Given the description of an element on the screen output the (x, y) to click on. 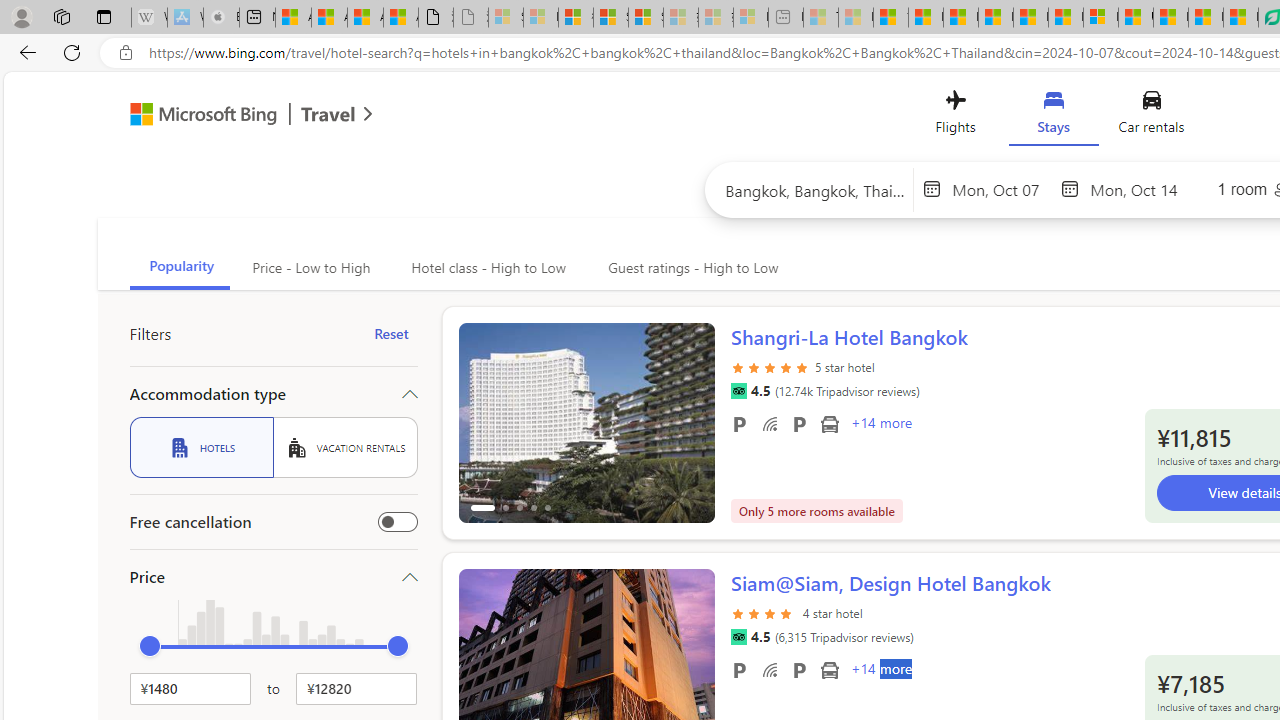
Stays (1053, 116)
Microsoft Bing Travel (229, 116)
Car rentals (1150, 116)
Price (273, 576)
+14 More Amenities (880, 671)
HOTELS (201, 447)
Microsoft Bing (194, 116)
Accommodation type (273, 393)
Price - Low to High (309, 268)
